Given the description of an element on the screen output the (x, y) to click on. 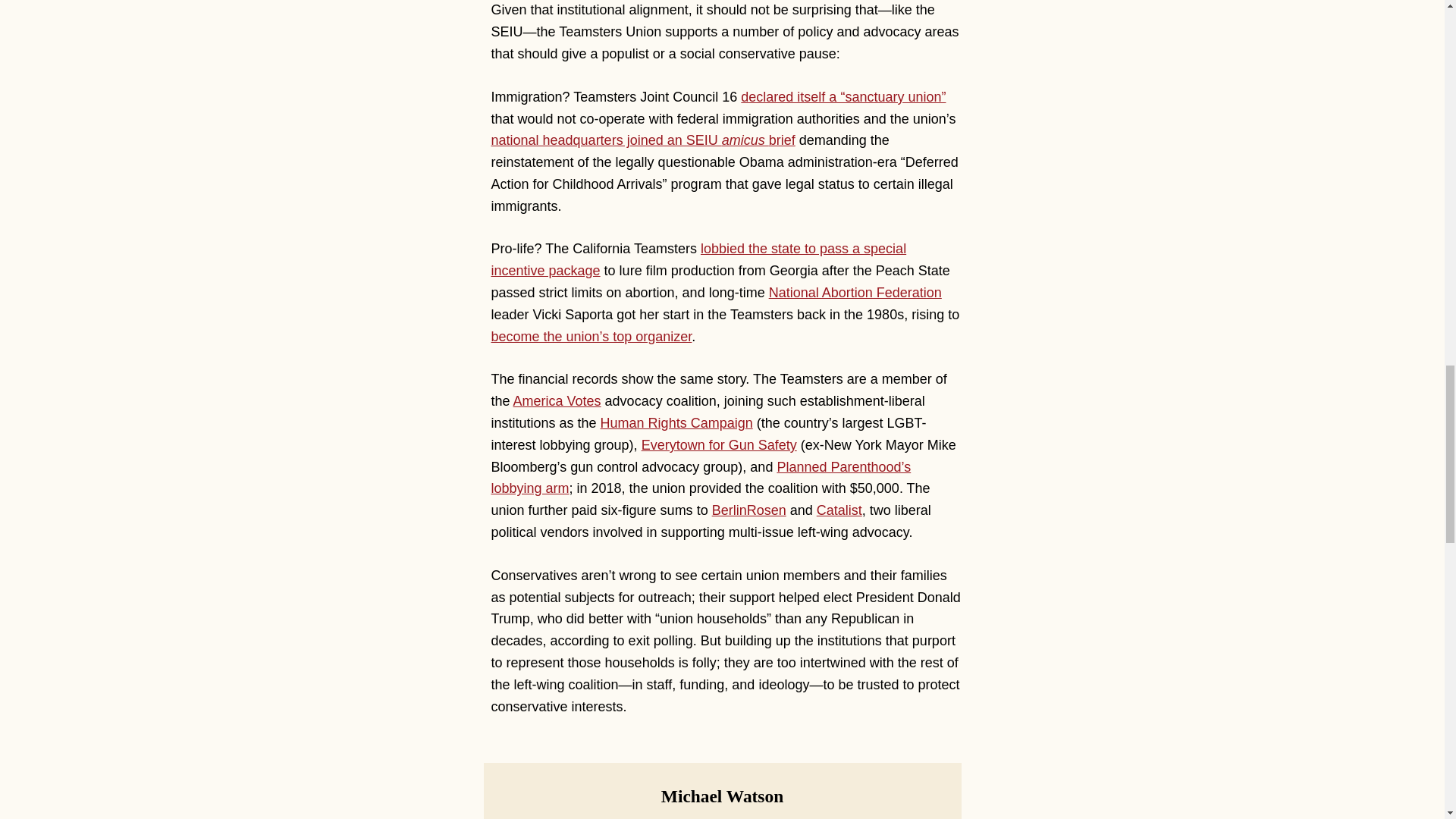
national headquarters joined an SEIU amicus brief (643, 140)
Human Rights Campaign (675, 422)
America Votes (557, 400)
lobbied the state to pass a special incentive package (699, 259)
Everytown for Gun Safety (719, 444)
National Abortion Federation (855, 292)
